Given the description of an element on the screen output the (x, y) to click on. 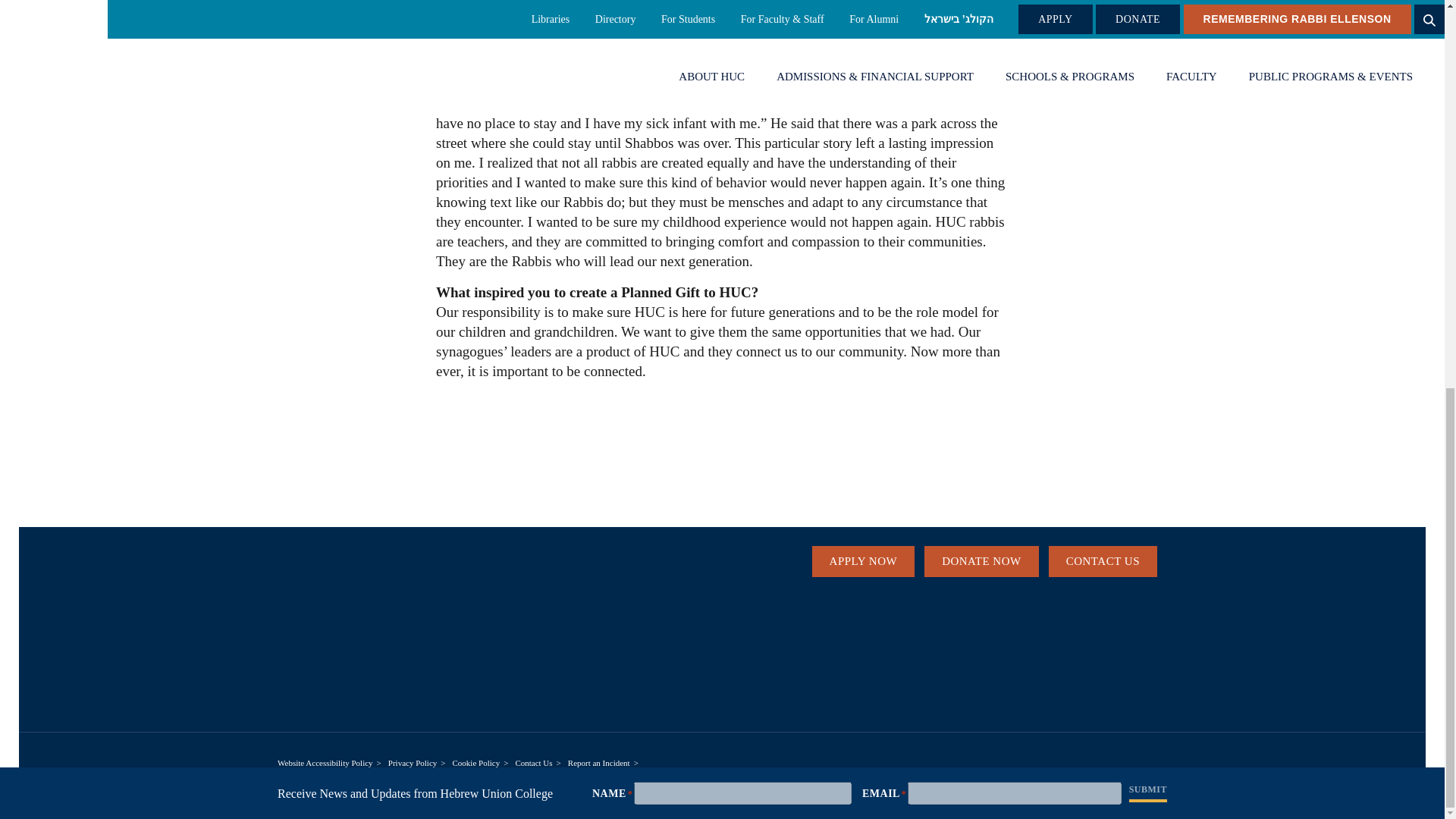
Submit (1148, 54)
DECLINE COOKIES (1266, 276)
ACCEPT COOKIES (1134, 276)
